Given the description of an element on the screen output the (x, y) to click on. 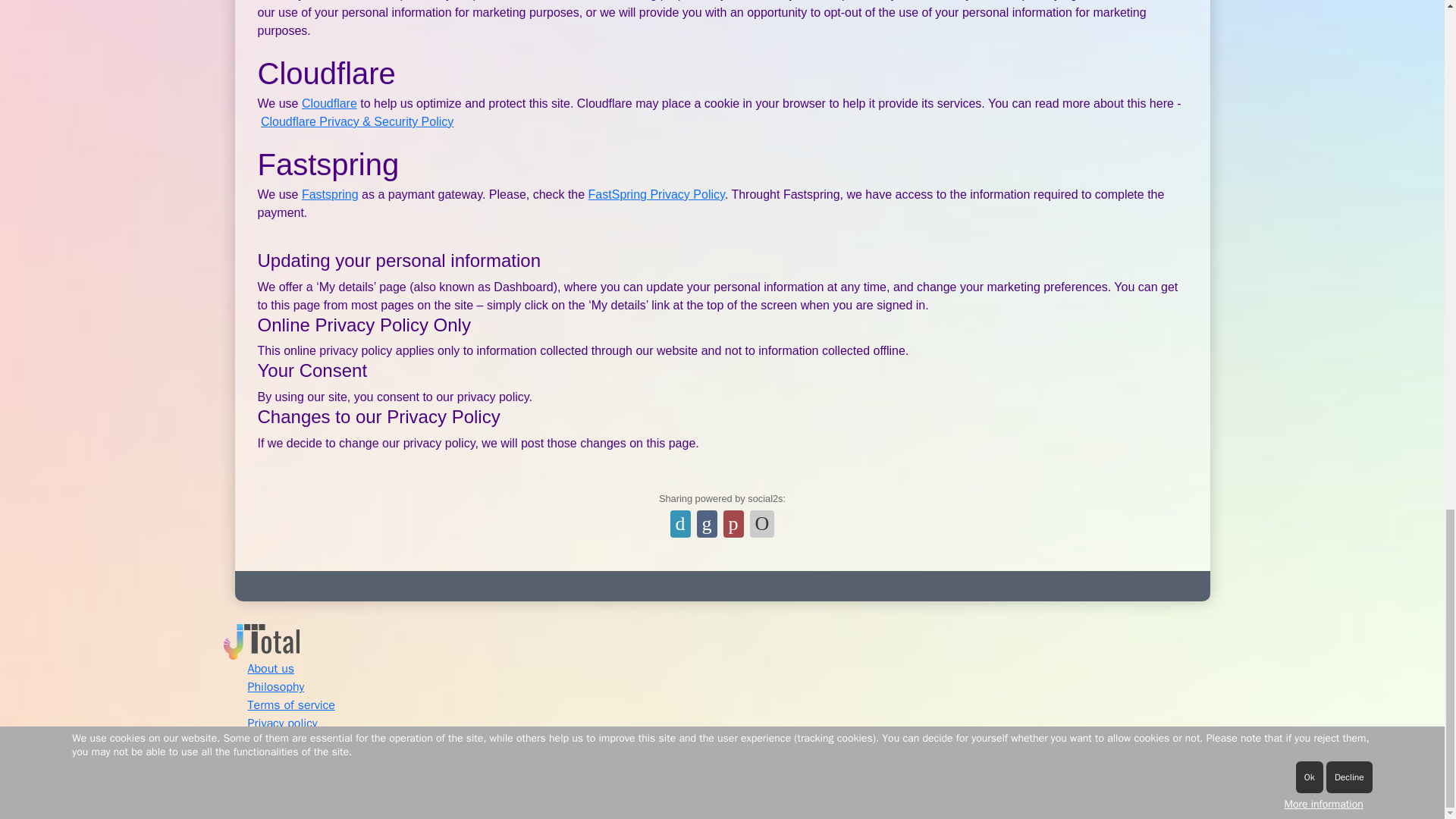
fastspring (329, 194)
Cloudflare (328, 103)
Cloudflare (328, 103)
Fastspring (329, 194)
FastSpring Privacy Policy (656, 194)
